Given the description of an element on the screen output the (x, y) to click on. 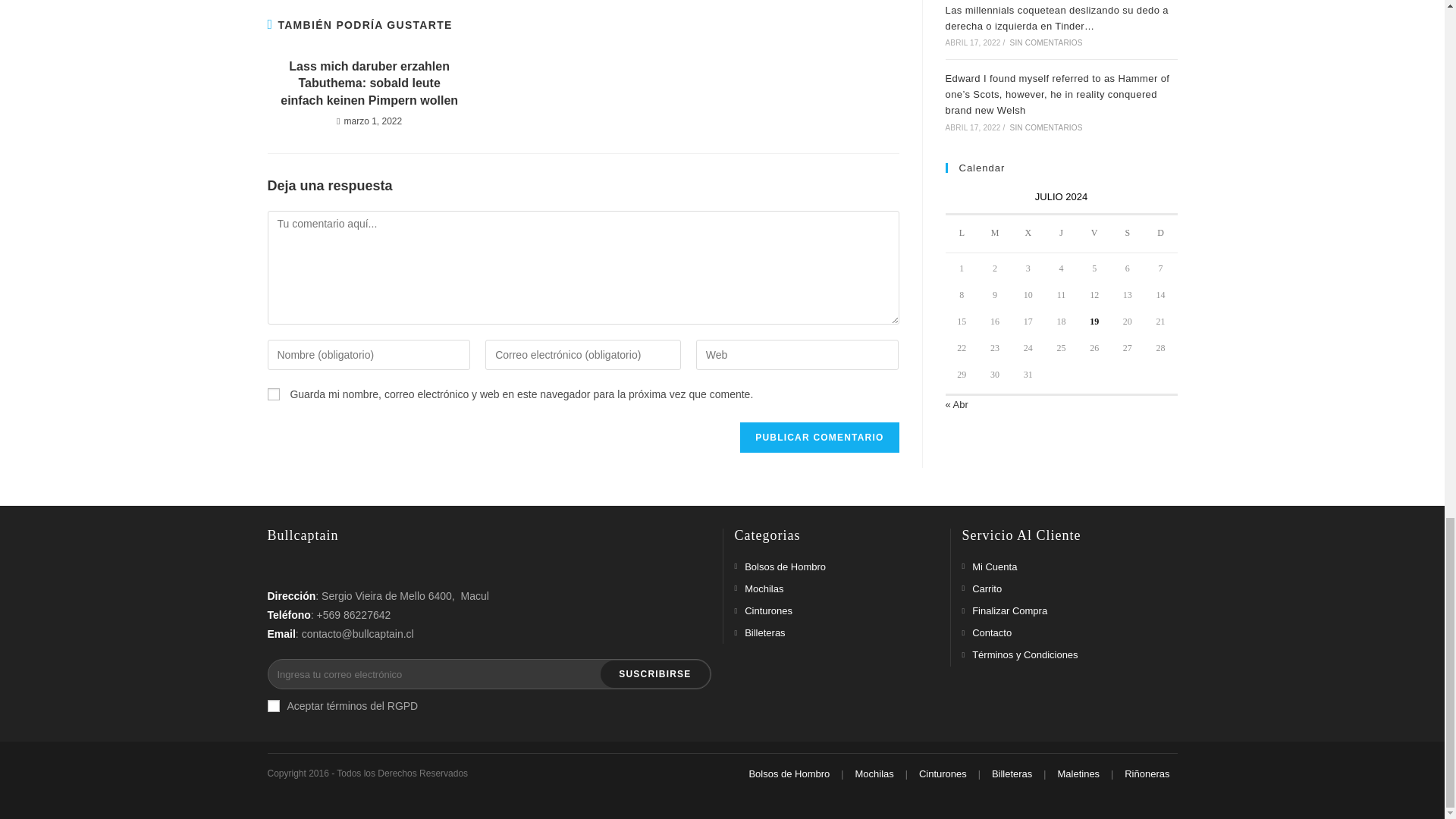
1 (272, 705)
domingo (1160, 233)
yes (272, 394)
martes (994, 233)
lunes (961, 233)
viernes (1093, 233)
jueves (1061, 233)
Publicar comentario (818, 437)
